Given the description of an element on the screen output the (x, y) to click on. 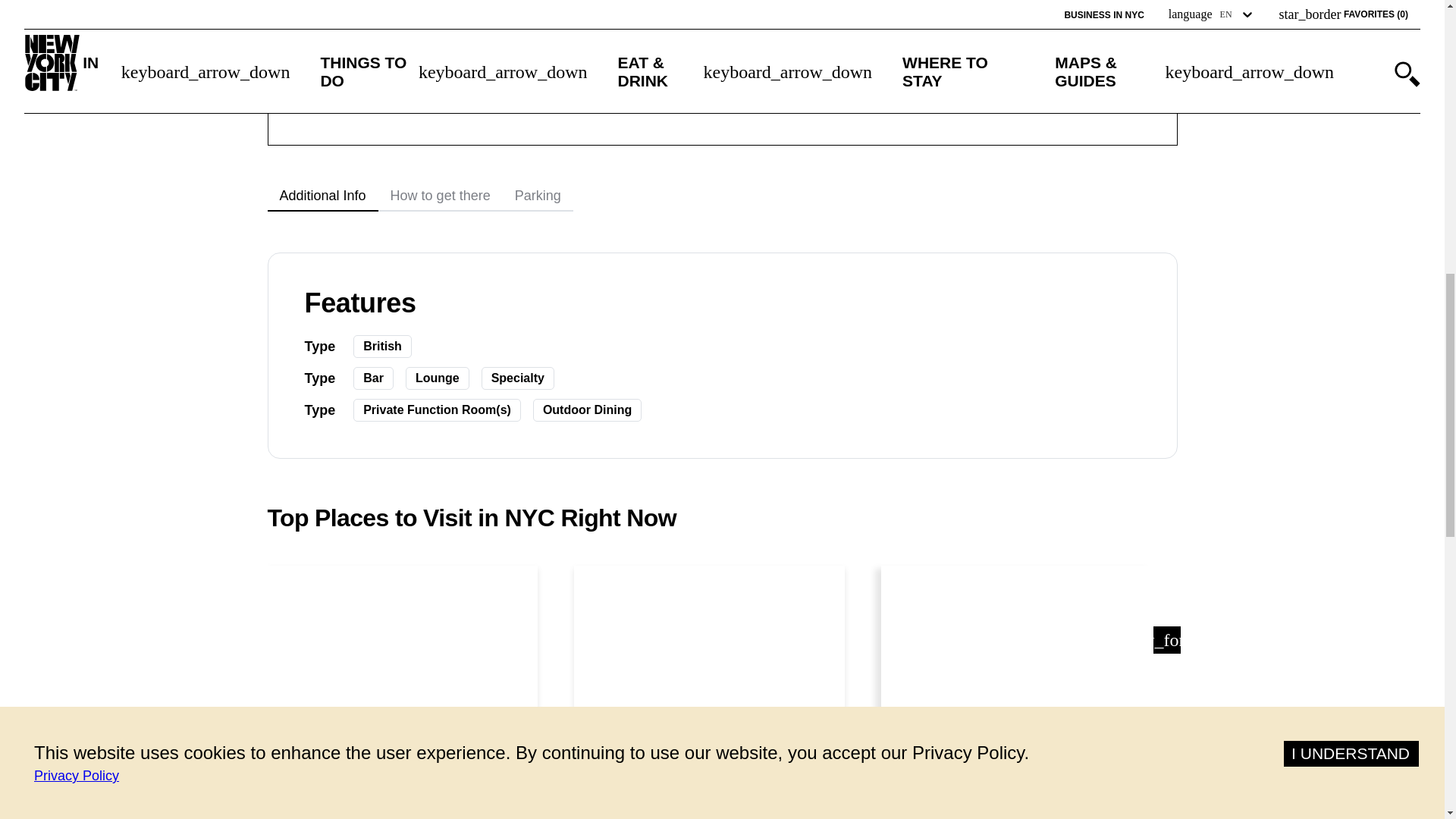
Facebook (777, 20)
Twitter (767, 105)
Coney Island (402, 813)
Queens Night Market (709, 813)
Additional Info (321, 196)
How to get there (440, 196)
Parking (537, 196)
